Given the description of an element on the screen output the (x, y) to click on. 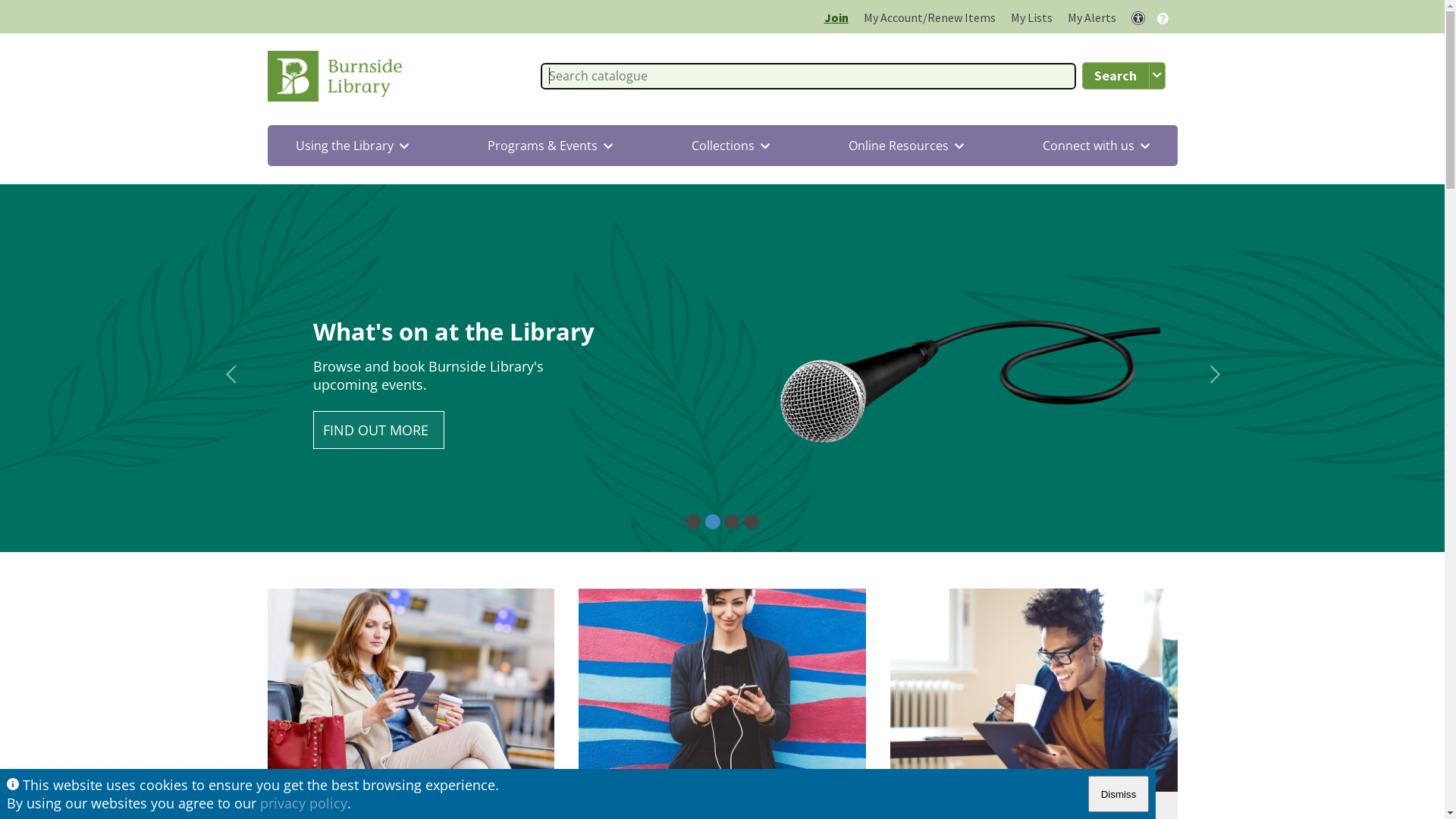
My Lists Element type: text (1030, 17)
Home Element type: text (338, 75)
My Alerts Element type: text (1091, 17)
Join Element type: text (835, 17)
Search For: Element type: hover (807, 75)
My Account/Renew Items Element type: text (928, 17)
Help Element type: hover (1161, 17)
Previous Element type: hover (230, 373)
Search Element type: text (1114, 75)
Search Element type: hover (1114, 75)
Dismiss Element type: text (1118, 793)
Help Element type: text (1161, 17)
FIND OUT MORE Element type: text (377, 470)
Enable Accessibility Mode Element type: hover (1138, 18)
privacy policy Element type: text (303, 802)
Next Element type: hover (1213, 373)
